Given the description of an element on the screen output the (x, y) to click on. 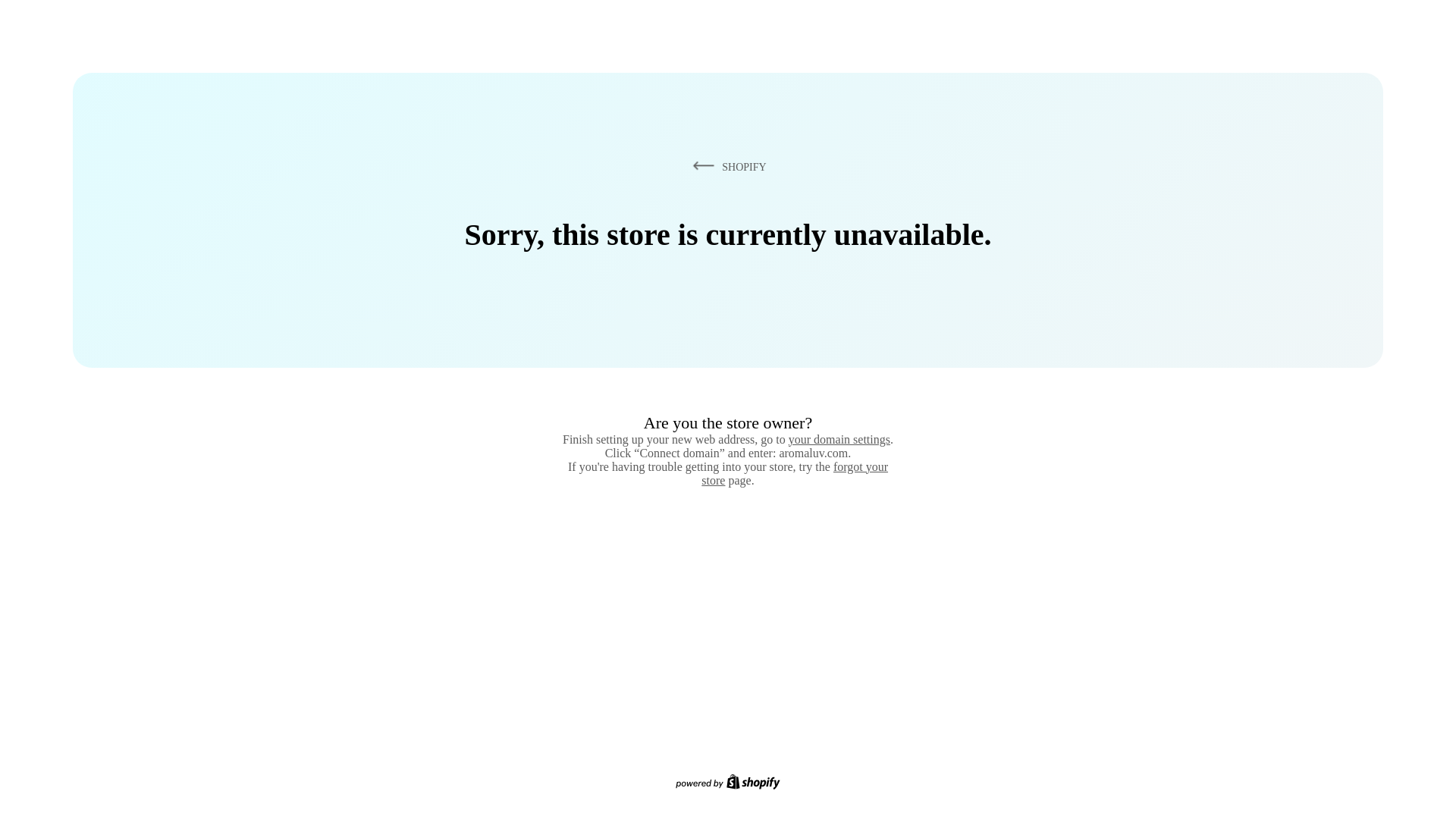
SHOPIFY (726, 166)
your domain settings (839, 439)
forgot your store (794, 473)
